Given the description of an element on the screen output the (x, y) to click on. 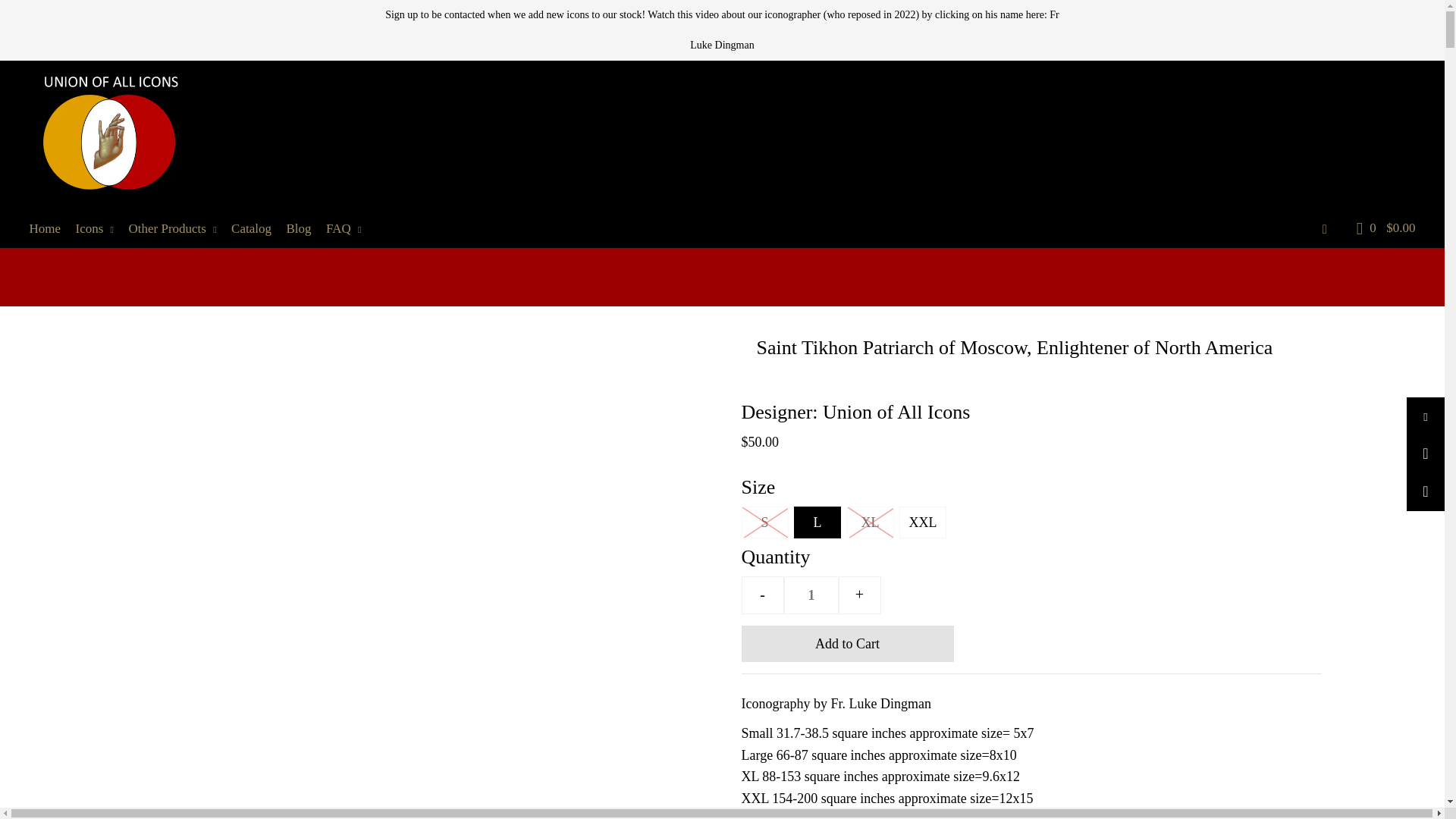
Fr Luke Dingman (874, 29)
Share on Facebook (1425, 415)
Share on Pinterest (1425, 492)
Painting Saint Lawrence (874, 29)
Add to Cart (847, 643)
1 (811, 595)
Catalog (256, 228)
Other Products (178, 228)
Icons (100, 228)
Blog (304, 228)
Home (50, 228)
FAQ (349, 228)
Share on Twitter (1425, 453)
